Given the description of an element on the screen output the (x, y) to click on. 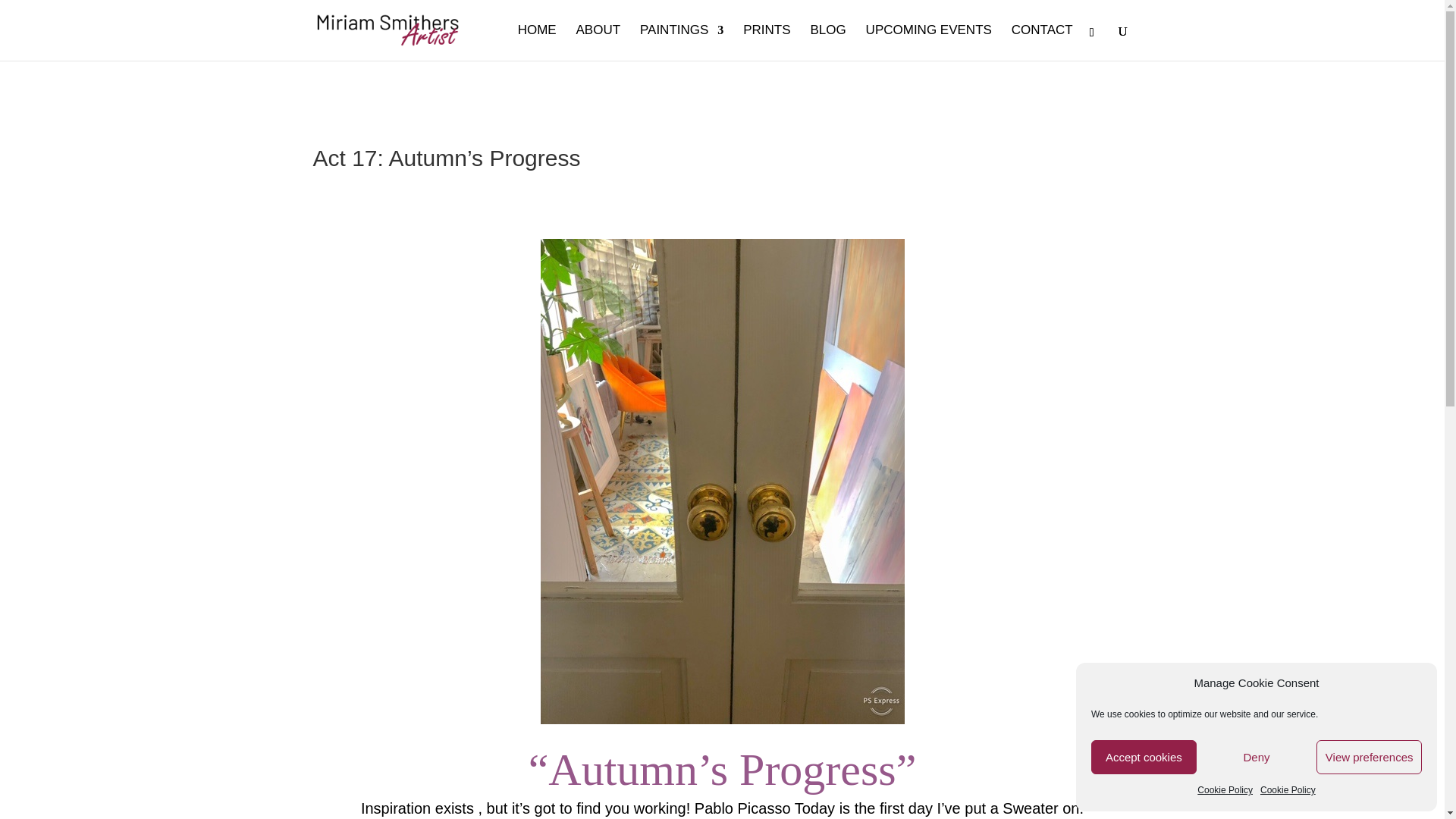
CONTACT (1042, 42)
View preferences (1369, 756)
PRINTS (766, 42)
BLOG (827, 42)
UPCOMING EVENTS (928, 42)
HOME (537, 42)
ABOUT (598, 42)
Cookie Policy (1224, 791)
Deny (1256, 756)
Cookie Policy (1288, 791)
PAINTINGS (681, 42)
Accept cookies (1143, 756)
